Given the description of an element on the screen output the (x, y) to click on. 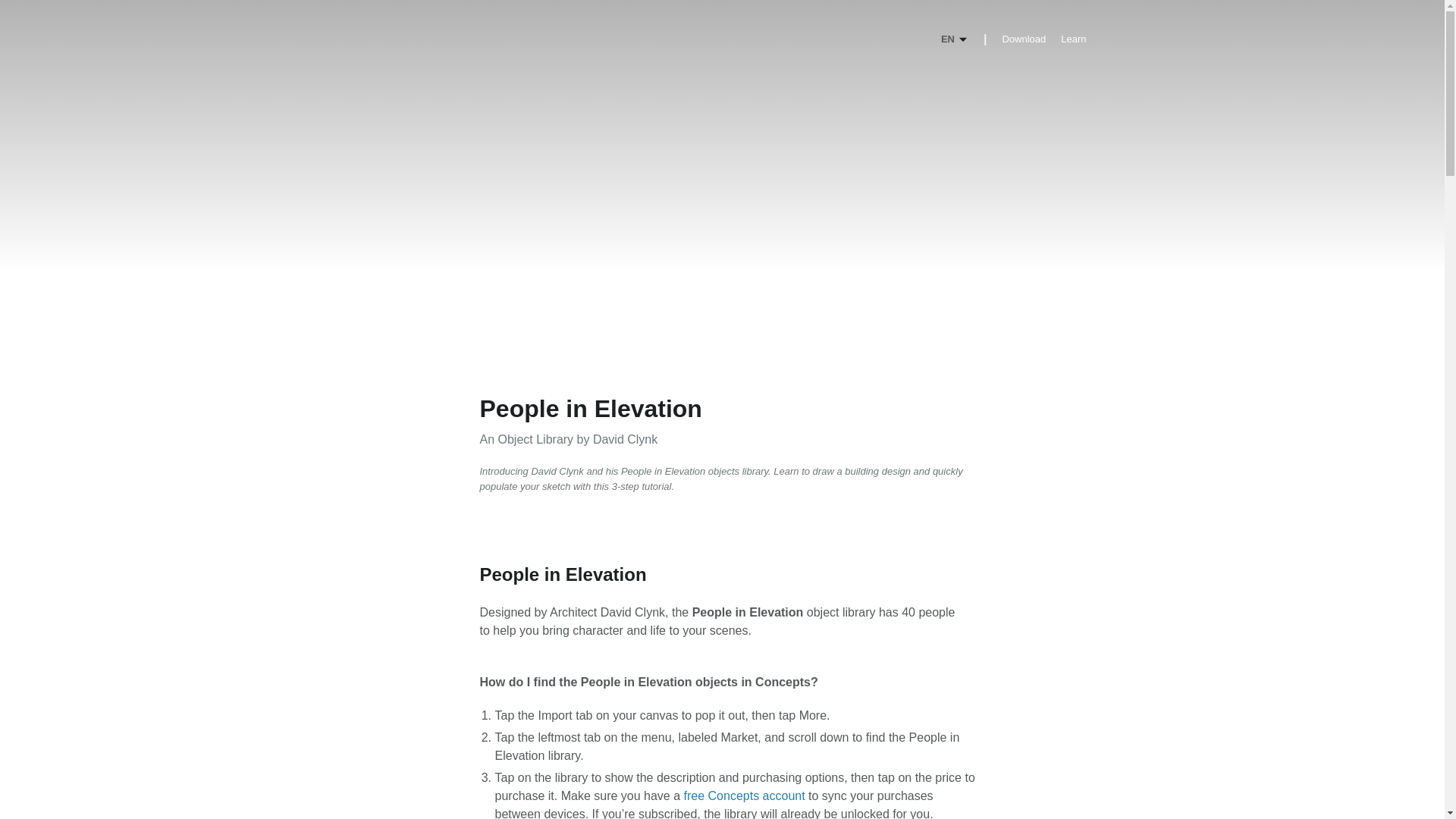
Download (1023, 38)
Learn (1073, 38)
free Concepts account (744, 795)
